Given the description of an element on the screen output the (x, y) to click on. 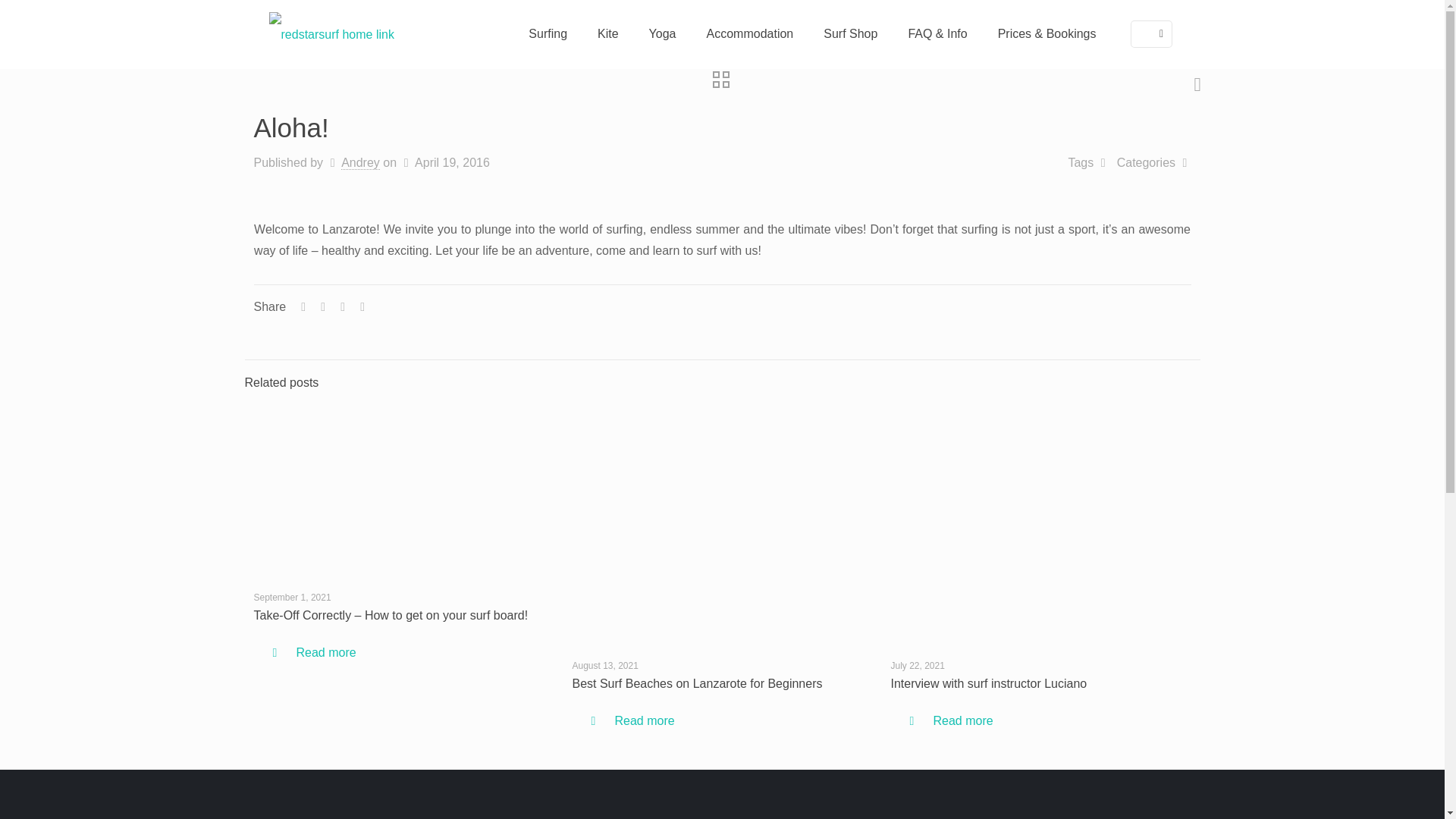
Surf Shop (850, 33)
Accommodation (750, 33)
Red Star Surf Lanzarote (330, 33)
Surfing (547, 33)
